Given the description of an element on the screen output the (x, y) to click on. 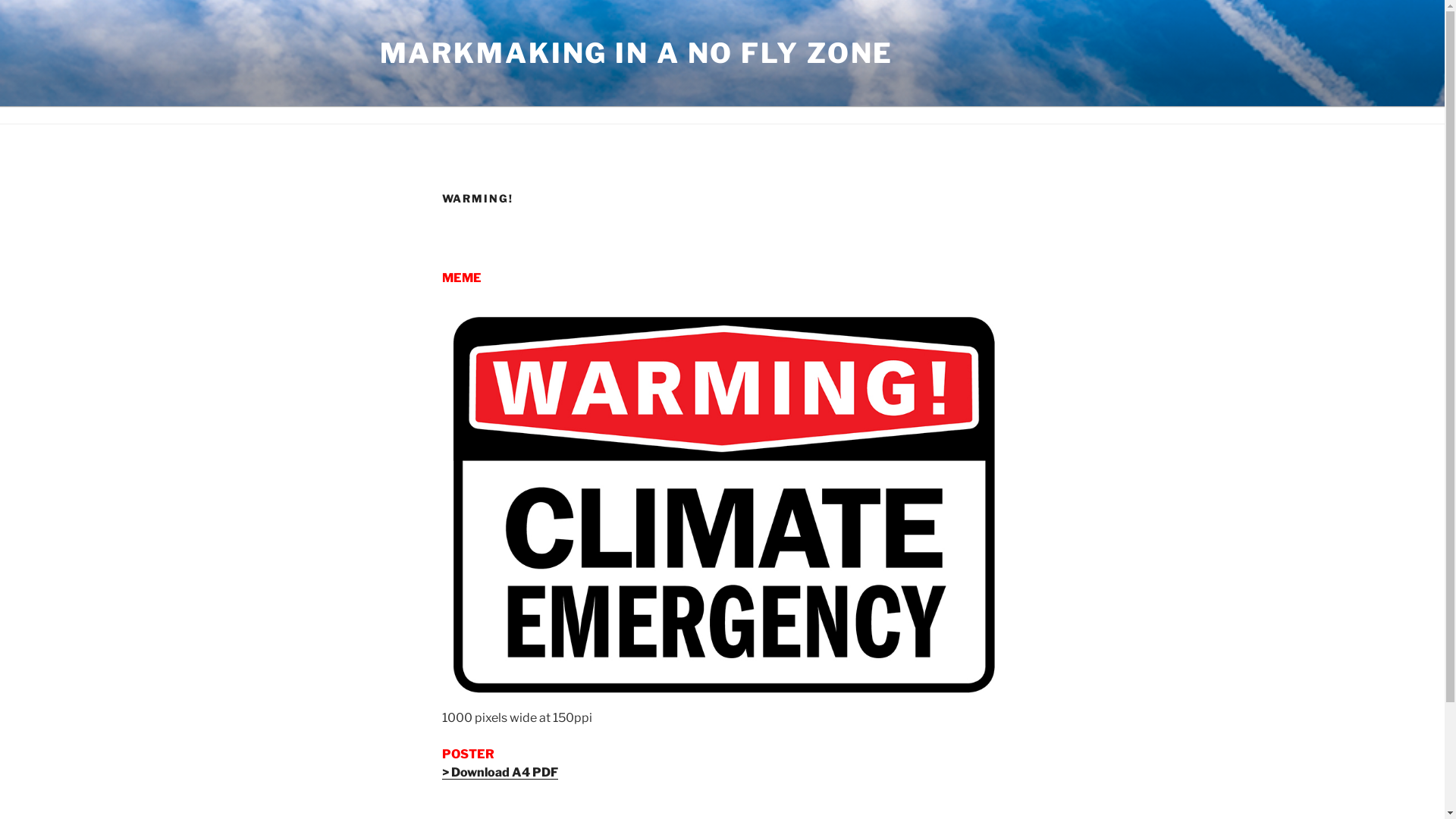
> Download A4 PDF Element type: text (499, 772)
MARKMAKING IN A NO FLY ZONE Element type: text (636, 52)
